Given the description of an element on the screen output the (x, y) to click on. 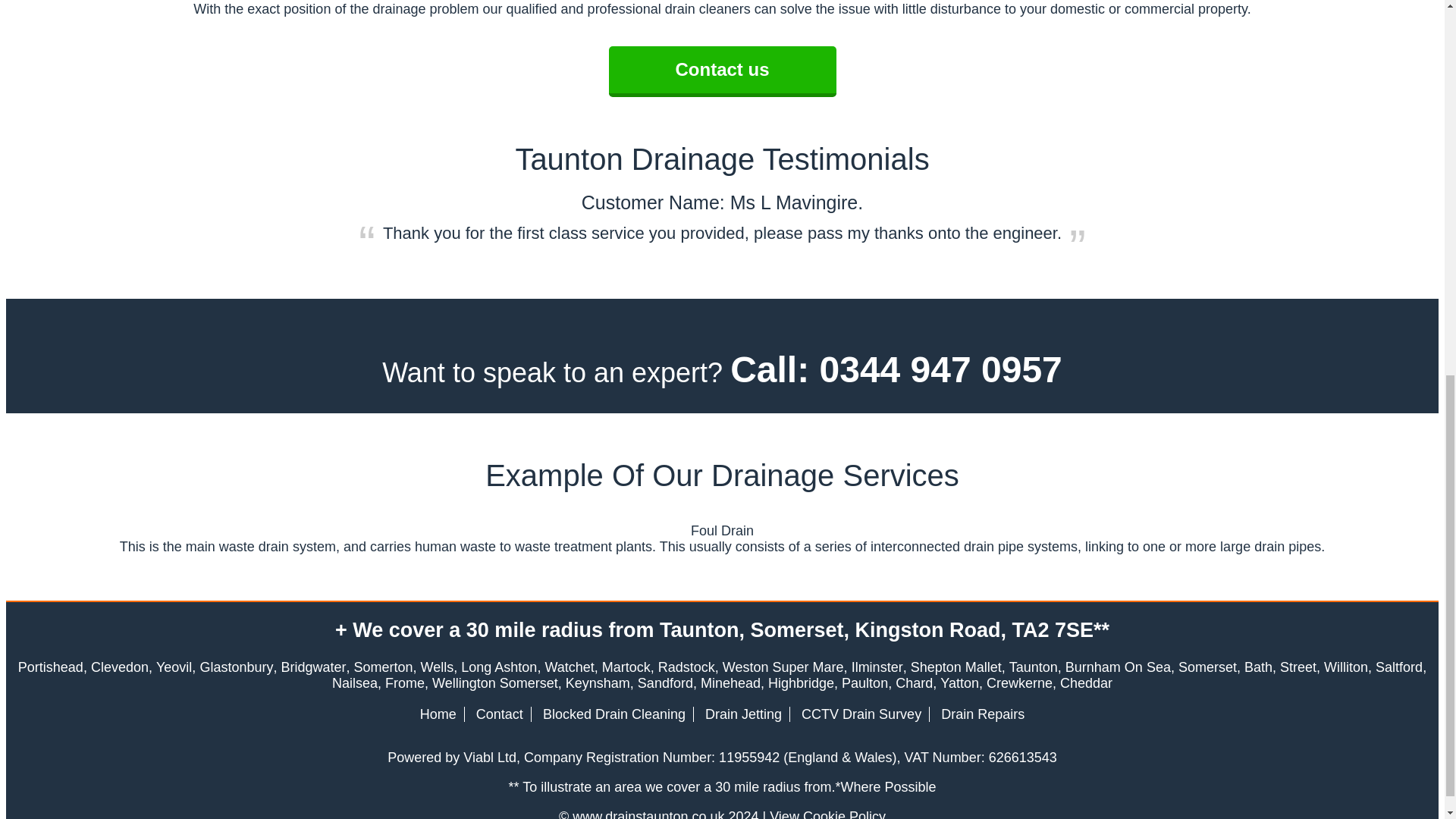
Homepage (438, 713)
Blocked Drain Cleaning (614, 713)
CCTV Drain Survey (861, 713)
Drain Repairs (982, 713)
Drain Repairs (982, 713)
0344 947 0957 (939, 369)
CCTV Drain Survey (861, 713)
Blocked Drain Cleaning (614, 713)
Drain Jetting (742, 713)
Contact (499, 713)
Contact us (721, 70)
Home (438, 713)
Drain Jetting (742, 713)
Contact Us (499, 713)
